Given the description of an element on the screen output the (x, y) to click on. 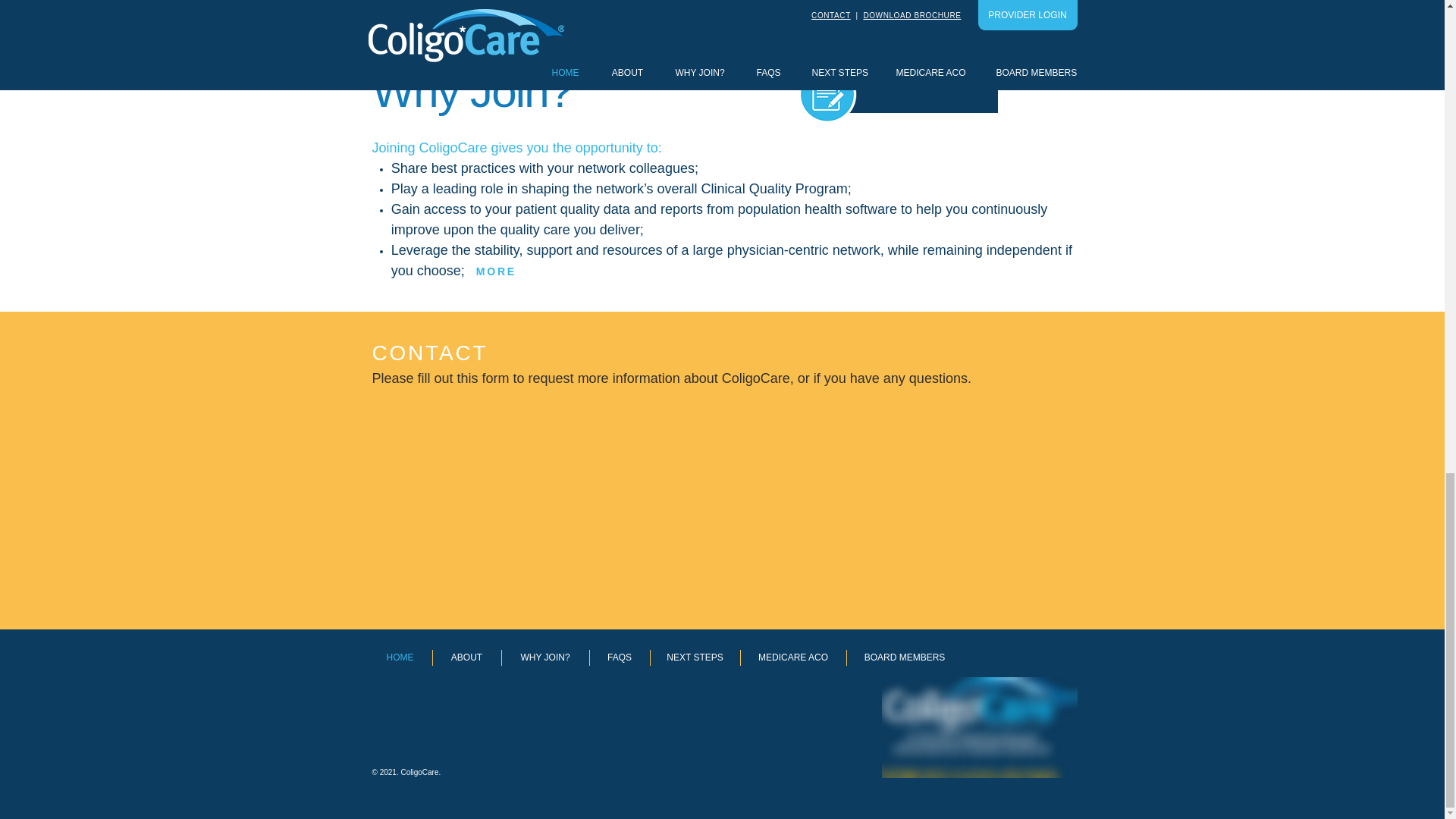
MEDICARE ACO (792, 657)
WHY JOIN? (545, 657)
MORE (496, 270)
HOME (400, 657)
BOARD MEMBERS (903, 657)
NEXT STEPS (694, 657)
FAQS (619, 657)
ABOUT (466, 657)
